Given the description of an element on the screen output the (x, y) to click on. 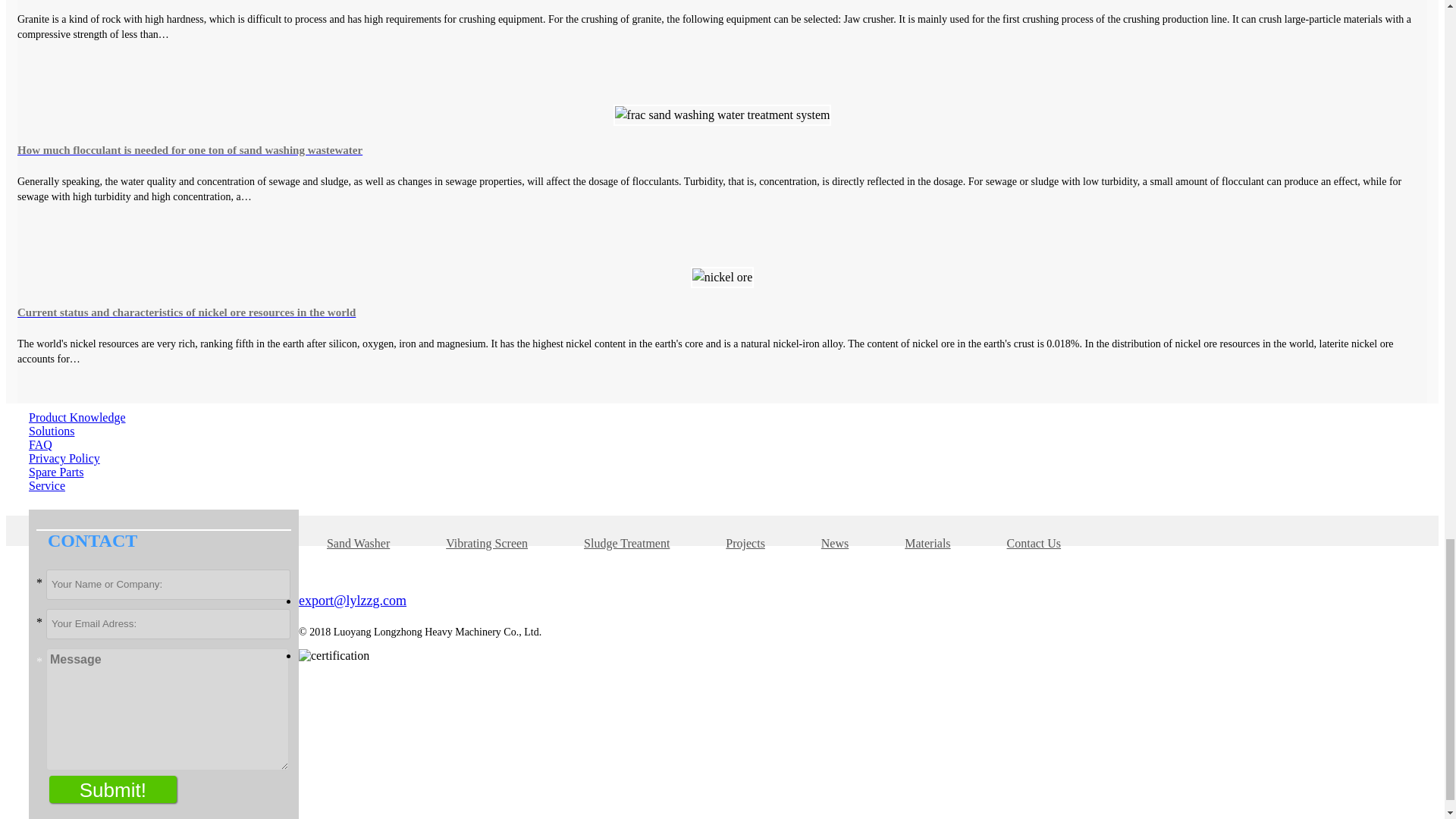
Spare Parts (55, 472)
Solutions (51, 431)
FAQ (40, 444)
Product Knowledge (77, 417)
Submit! (112, 789)
Service (47, 485)
Sand Washer (358, 543)
Privacy Policy (64, 458)
Submit! (112, 789)
